Given the description of an element on the screen output the (x, y) to click on. 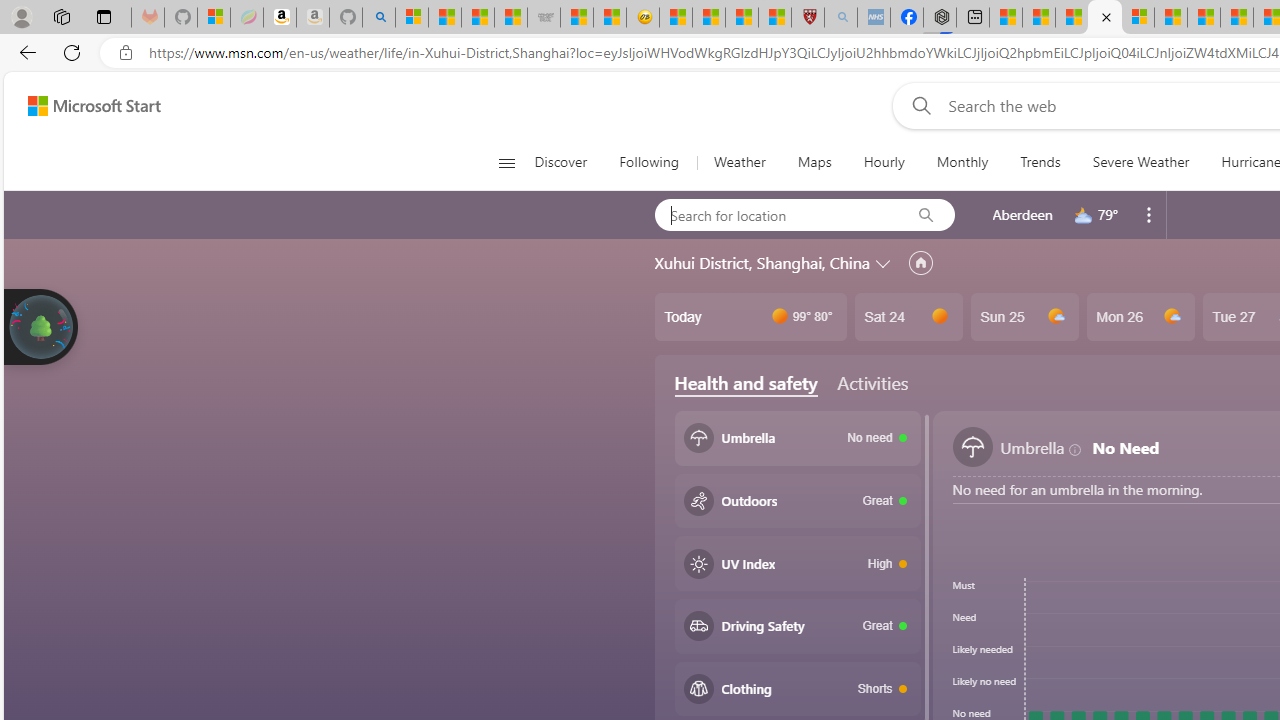
Monthly (962, 162)
Join us in planting real trees to help our planet! (40, 325)
Search for location (776, 214)
